Given the description of an element on the screen output the (x, y) to click on. 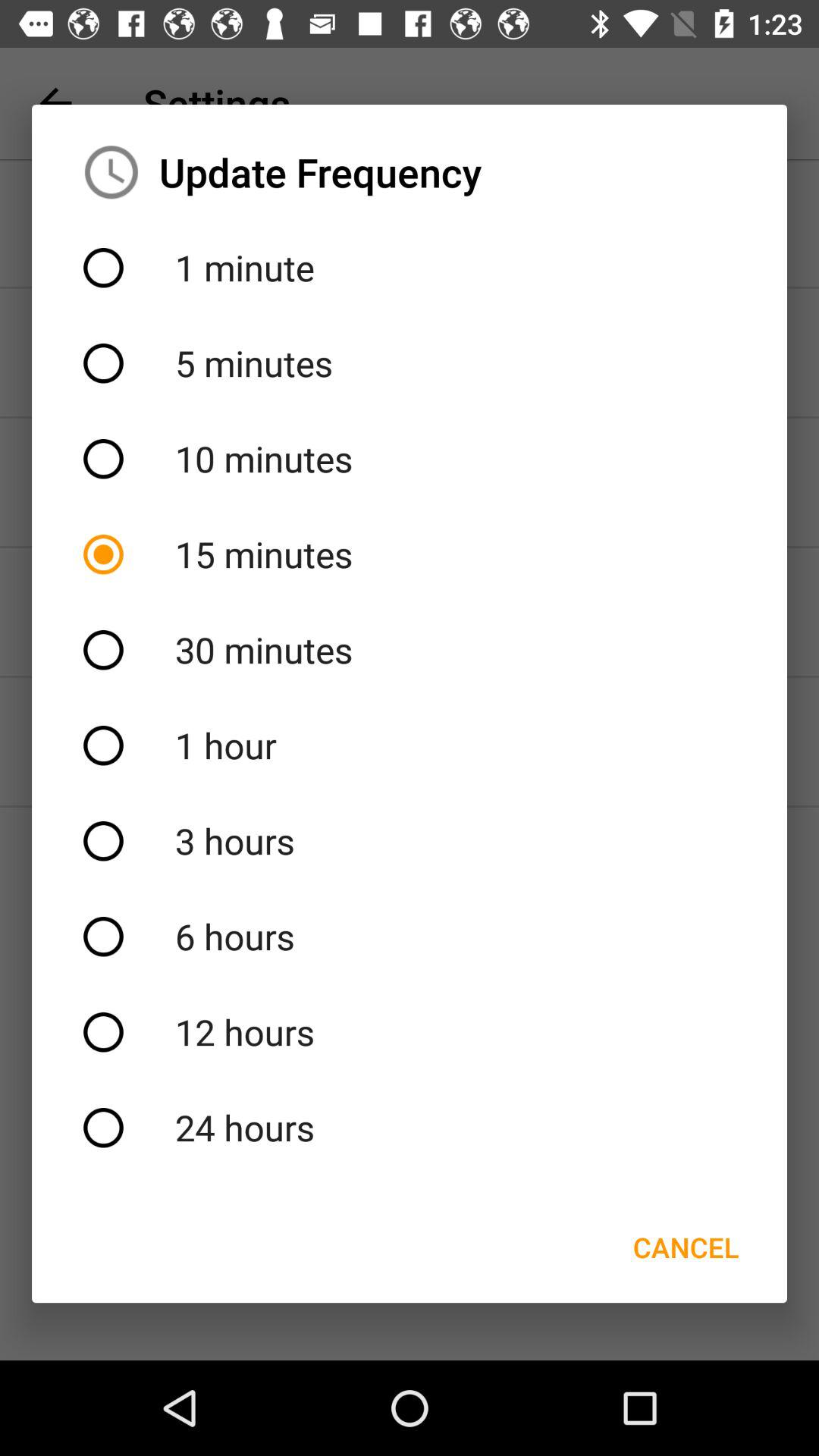
click item above 10 minutes icon (409, 363)
